Given the description of an element on the screen output the (x, y) to click on. 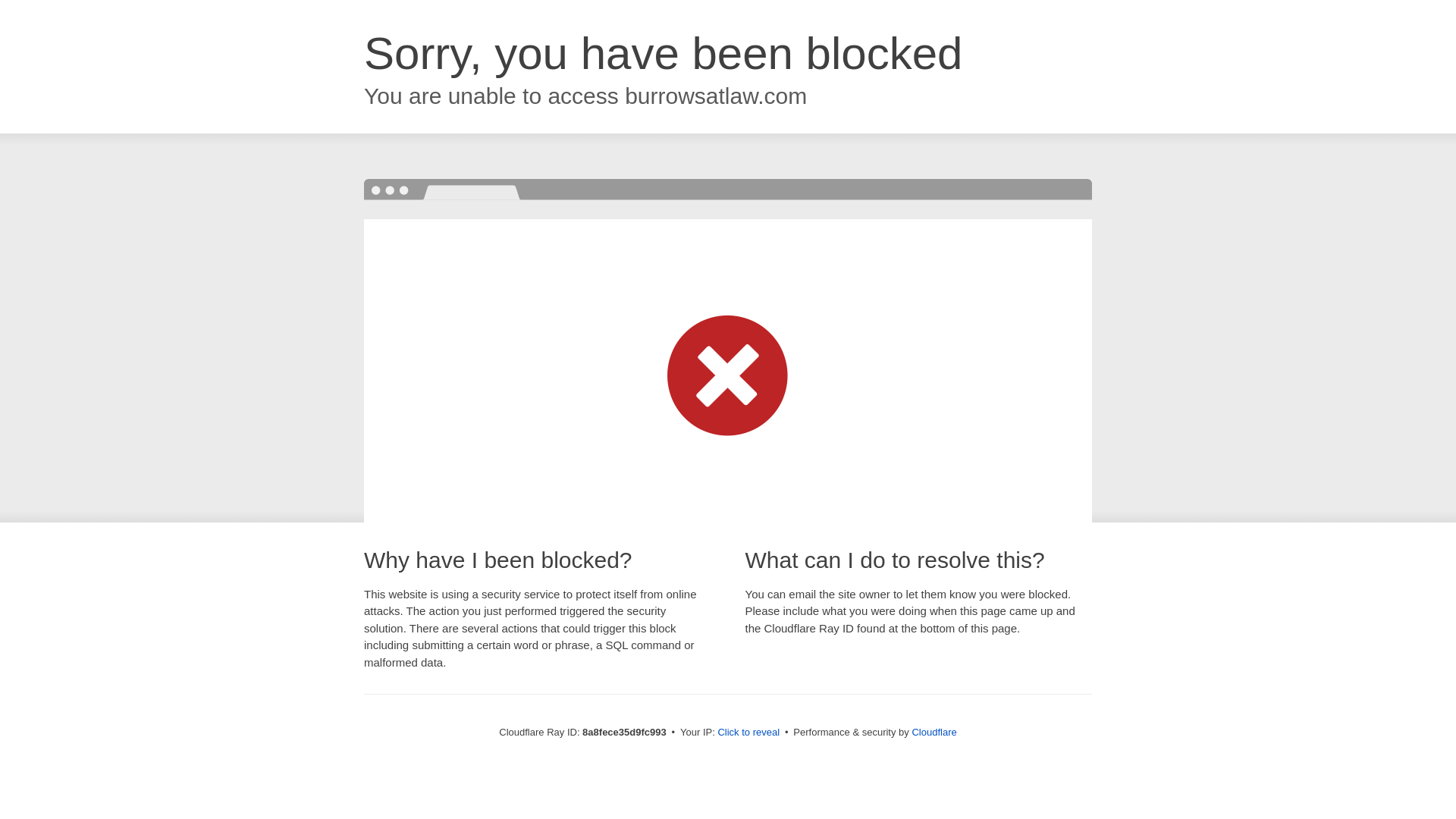
Cloudflare (933, 731)
Click to reveal (747, 732)
